Given the description of an element on the screen output the (x, y) to click on. 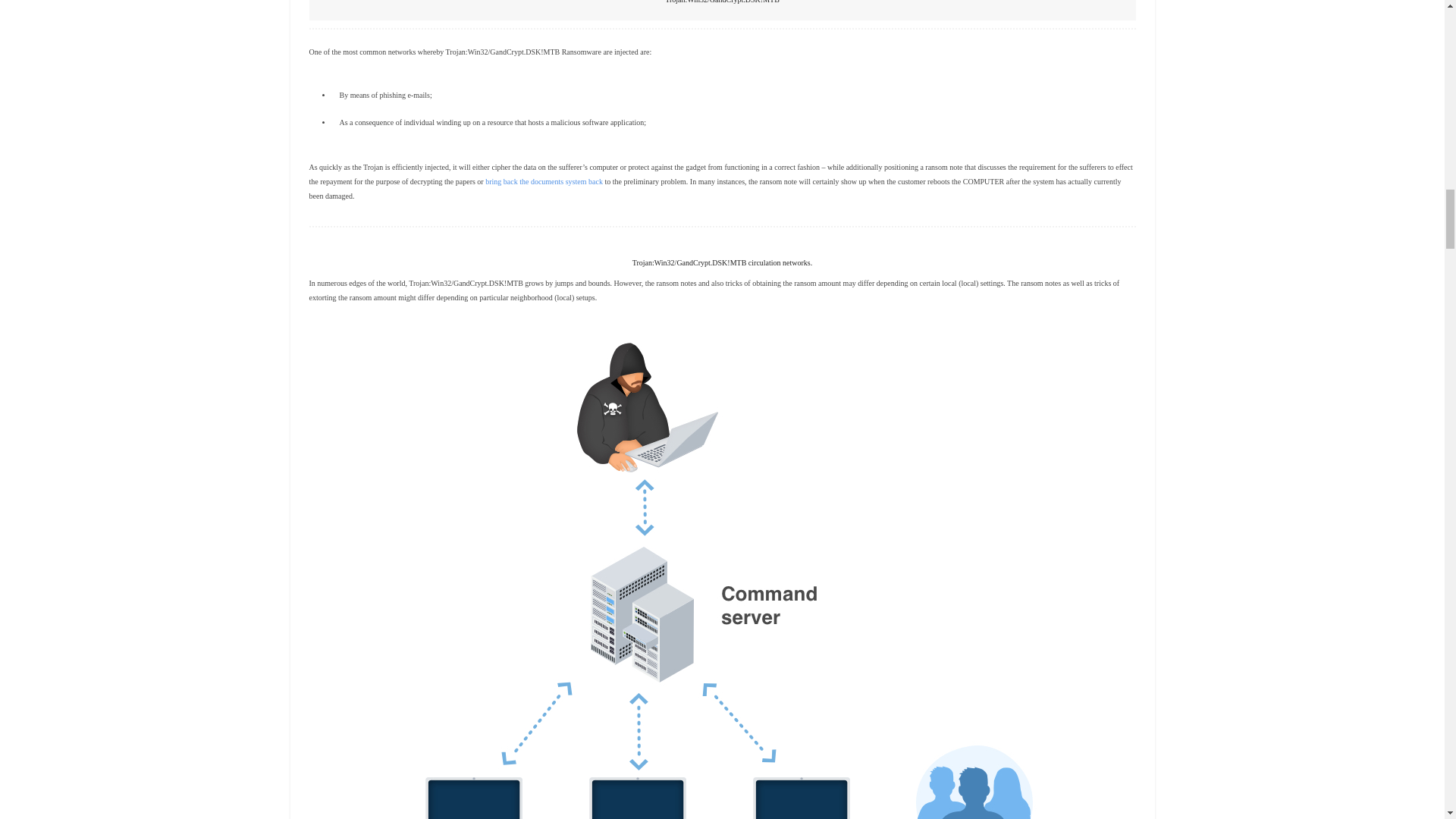
bring back the documents system back (543, 181)
